Given the description of an element on the screen output the (x, y) to click on. 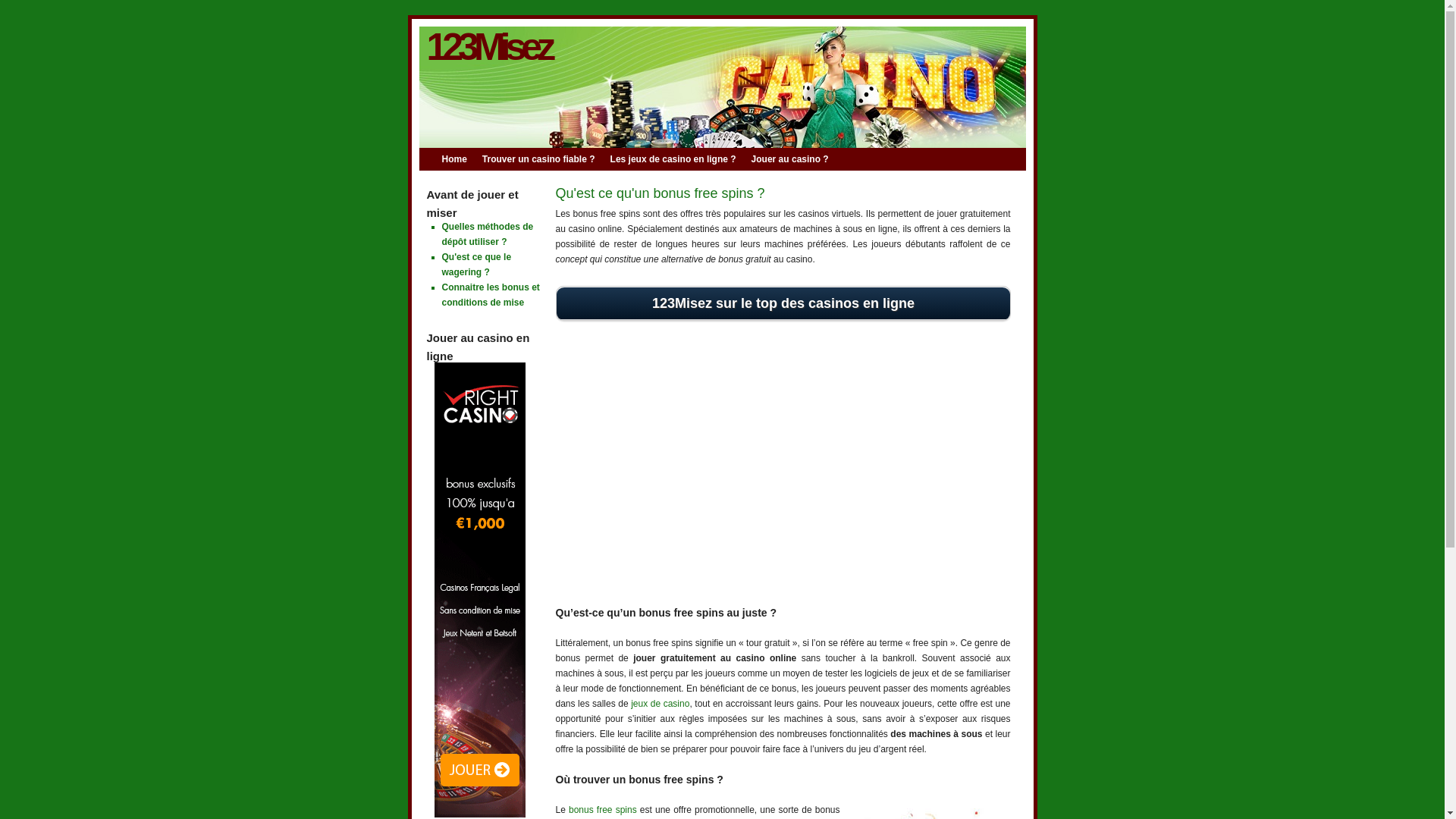
Trouver un casino fiable ? Element type: text (546, 158)
Qu'est ce que le wagering ? Element type: text (476, 264)
Les jeux de casino en ligne ? Element type: text (680, 158)
123Misez Element type: text (488, 46)
Connaitre les bonus et conditions de mise Element type: text (490, 294)
Jouer au casino ? Element type: text (797, 158)
jeux de casino Element type: text (659, 703)
bonus free spins Element type: text (602, 809)
Home Element type: text (461, 158)
